Given the description of an element on the screen output the (x, y) to click on. 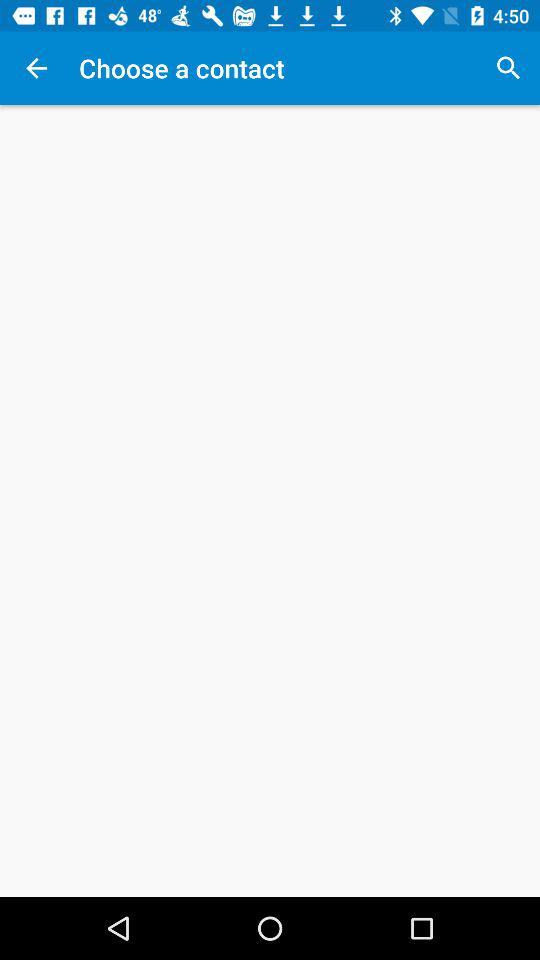
turn on the item at the top right corner (508, 67)
